Given the description of an element on the screen output the (x, y) to click on. 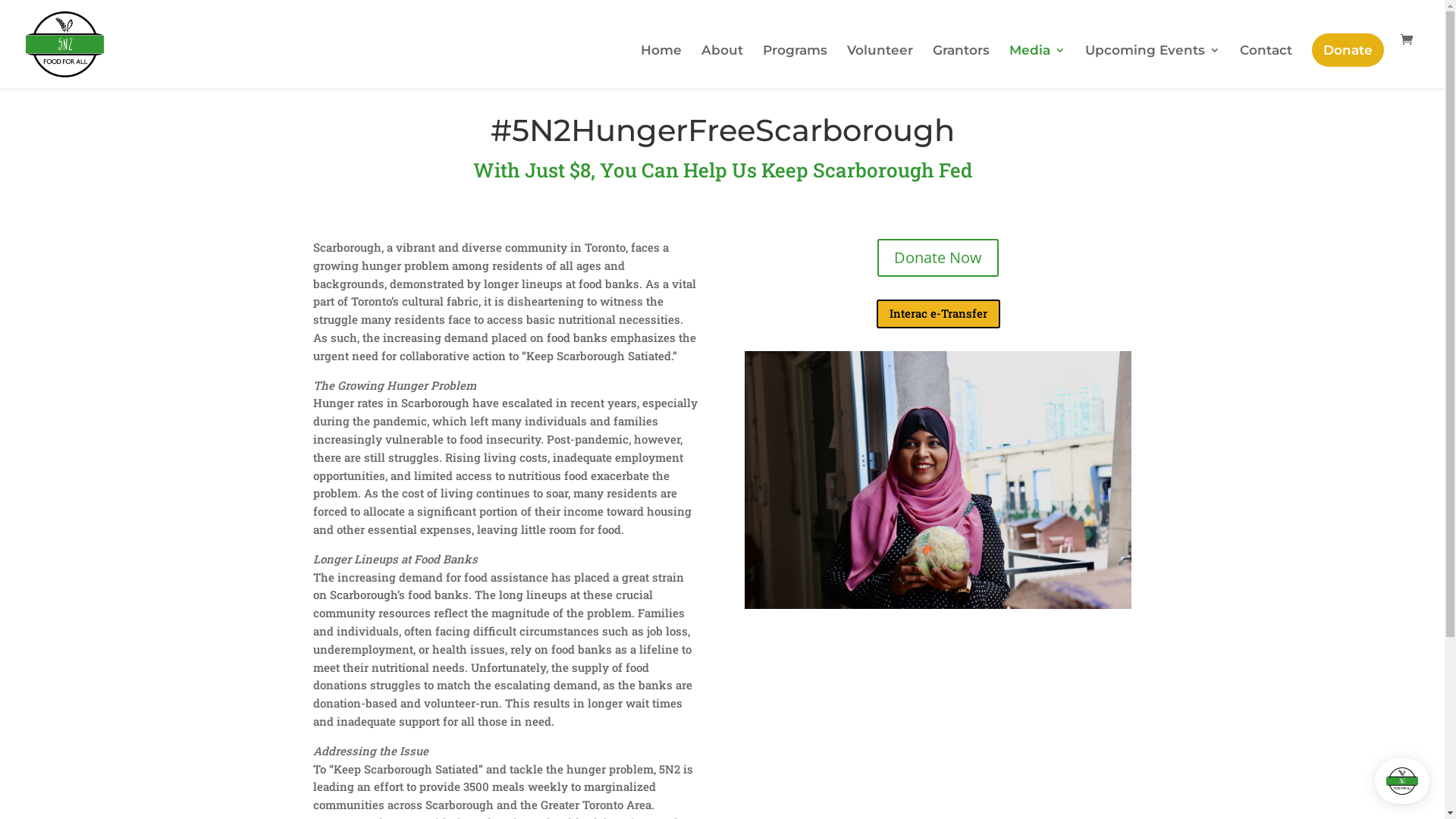
Media Element type: text (1037, 66)
Donate Now Element type: text (937, 257)
Donate Element type: text (1347, 49)
Programs Element type: text (794, 66)
Contact Element type: text (1265, 66)
Upcoming Events Element type: text (1152, 66)
Home Element type: text (660, 66)
Volunteer Element type: text (880, 66)
Interac e-Transfer Element type: text (938, 314)
705B2A57-1A53-4D4A-8FF2-BBA36C53FEA8_1_201_a Element type: hover (937, 479)
Grantors Element type: text (960, 66)
About Element type: text (722, 66)
